Given the description of an element on the screen output the (x, y) to click on. 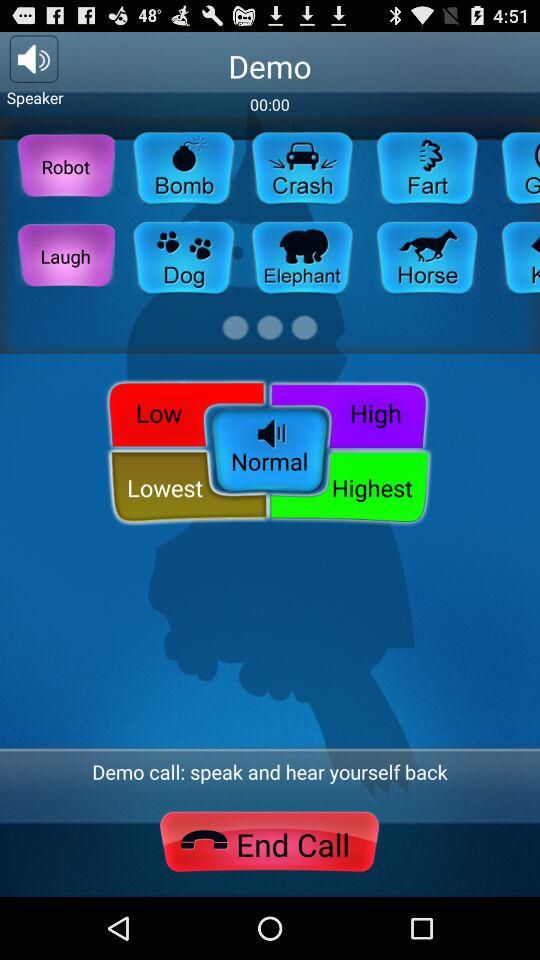
tap icon above the demo call speak item (349, 487)
